Given the description of an element on the screen output the (x, y) to click on. 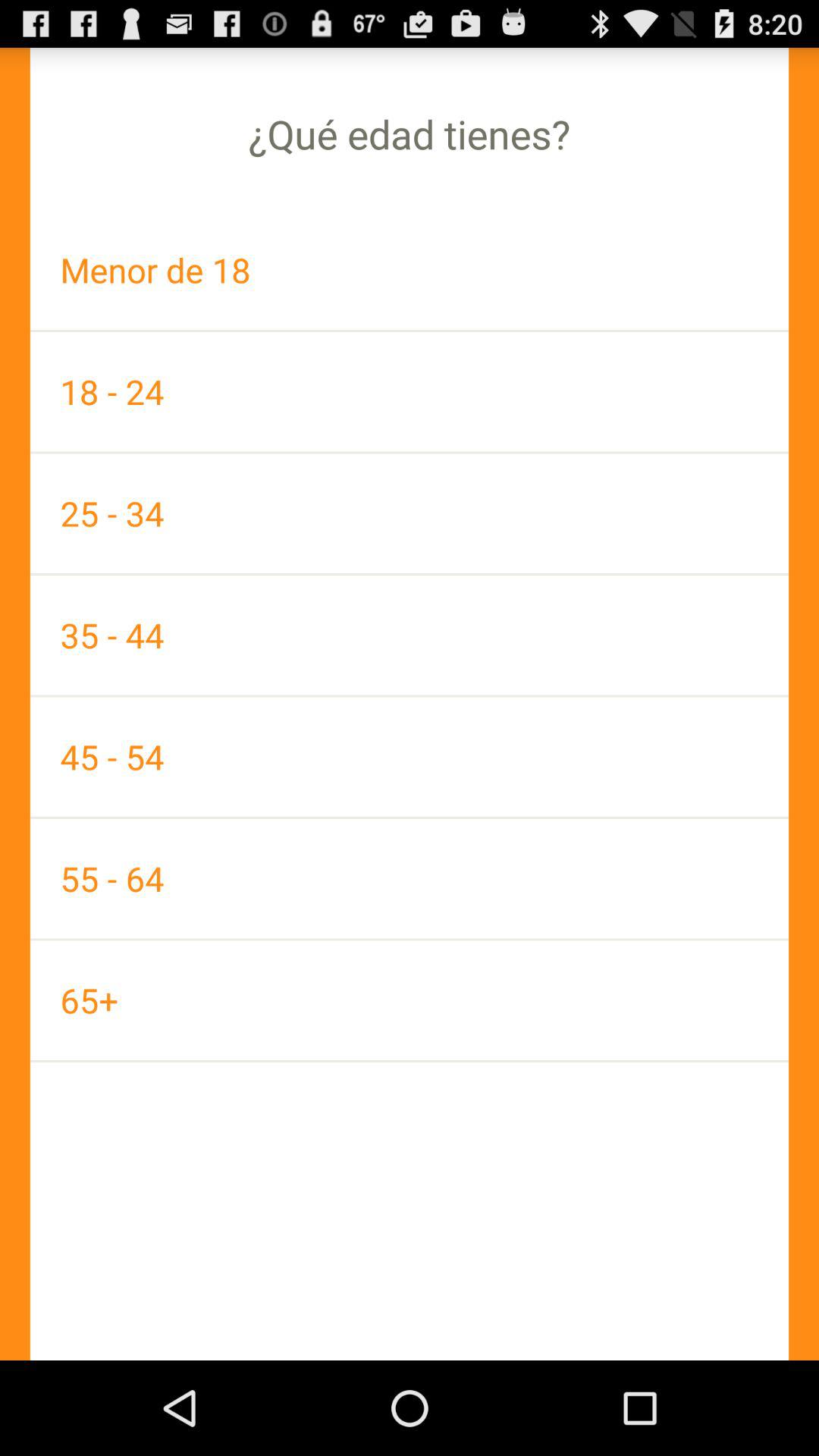
turn on app below the 25 - 34 item (409, 635)
